Given the description of an element on the screen output the (x, y) to click on. 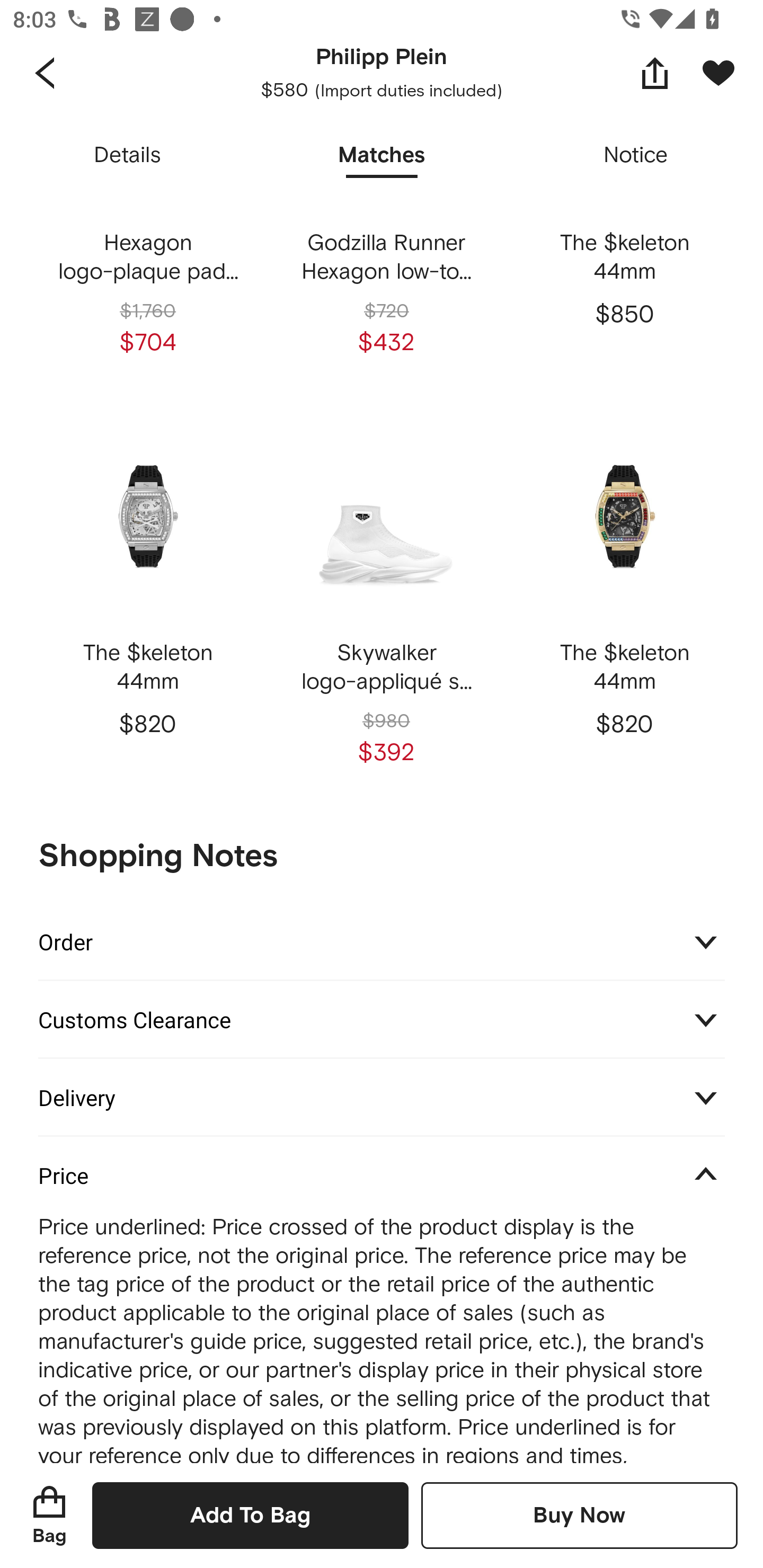
Hexagon logo-plaque padded jacket $1,760 $704 (147, 193)
The $keleton 44mm $850 (624, 193)
Details (127, 155)
Notice (635, 155)
The $keleton 44mm $820 (147, 602)
Skywalker logo-appliqué sneakers $980 $392 (385, 602)
The $keleton 44mm $820 (624, 602)
Order (381, 941)
Customs Clearance (381, 1018)
Delivery (381, 1096)
Price (381, 1174)
Bag (49, 1515)
Add To Bag (250, 1515)
Buy Now (579, 1515)
